Given the description of an element on the screen output the (x, y) to click on. 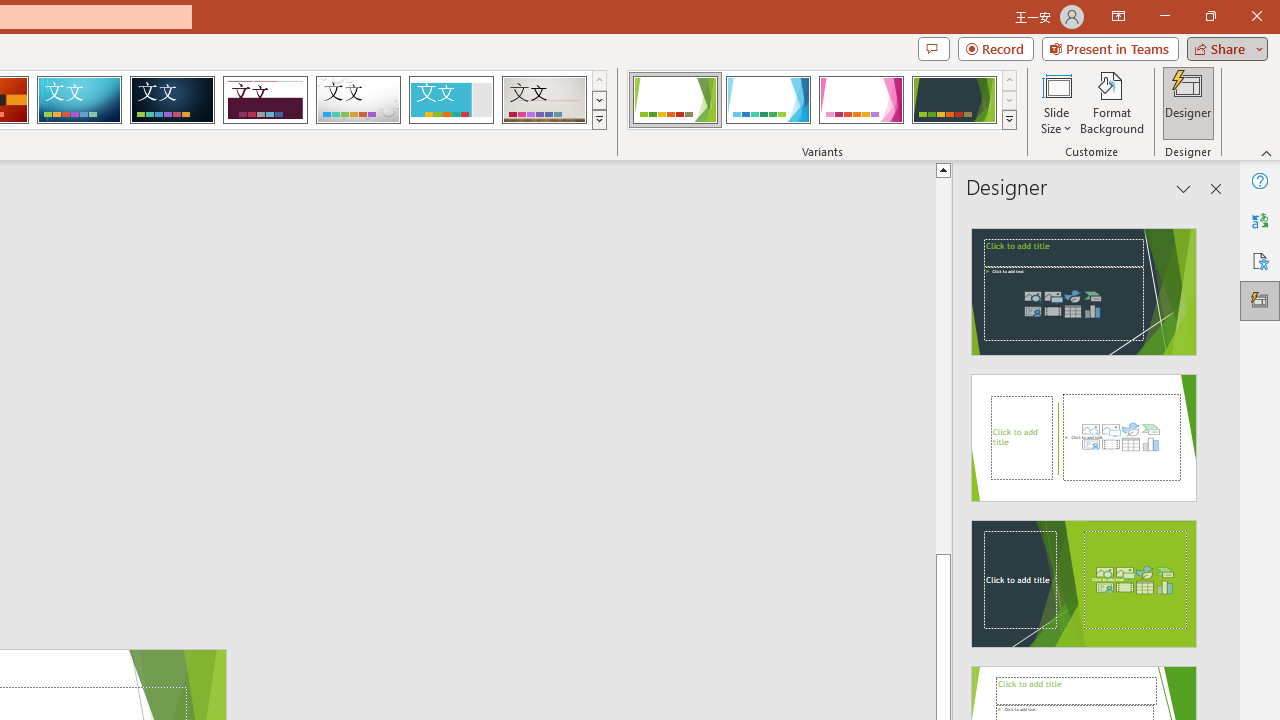
Facet Variant 4 (953, 100)
Facet Variant 2 (768, 100)
Dividend (265, 100)
Facet Variant 3 (861, 100)
Droplet (358, 100)
AutomationID: ThemeVariantsGallery (822, 99)
